Given the description of an element on the screen output the (x, y) to click on. 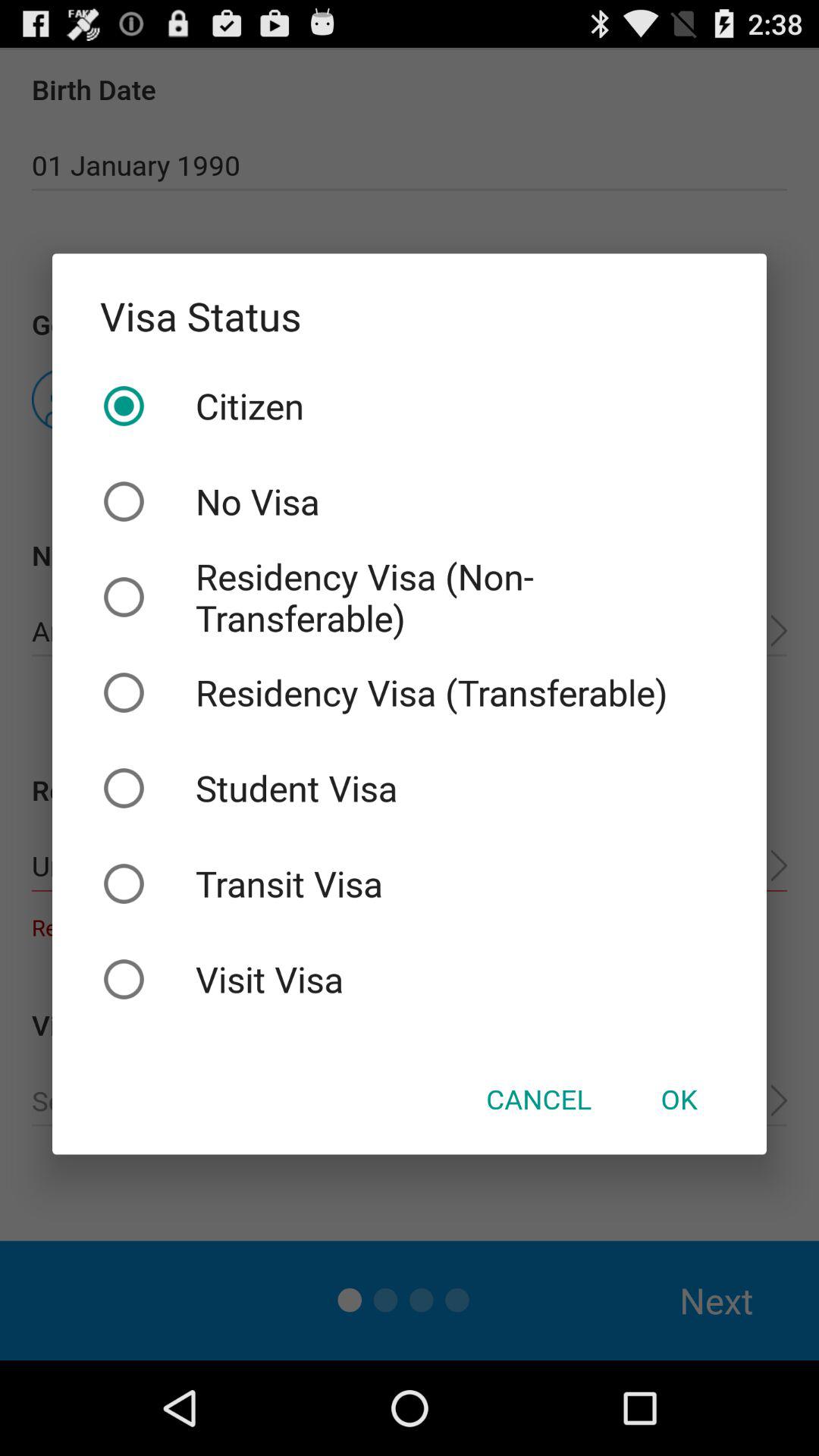
click icon below the visit visa checkbox (678, 1098)
